Given the description of an element on the screen output the (x, y) to click on. 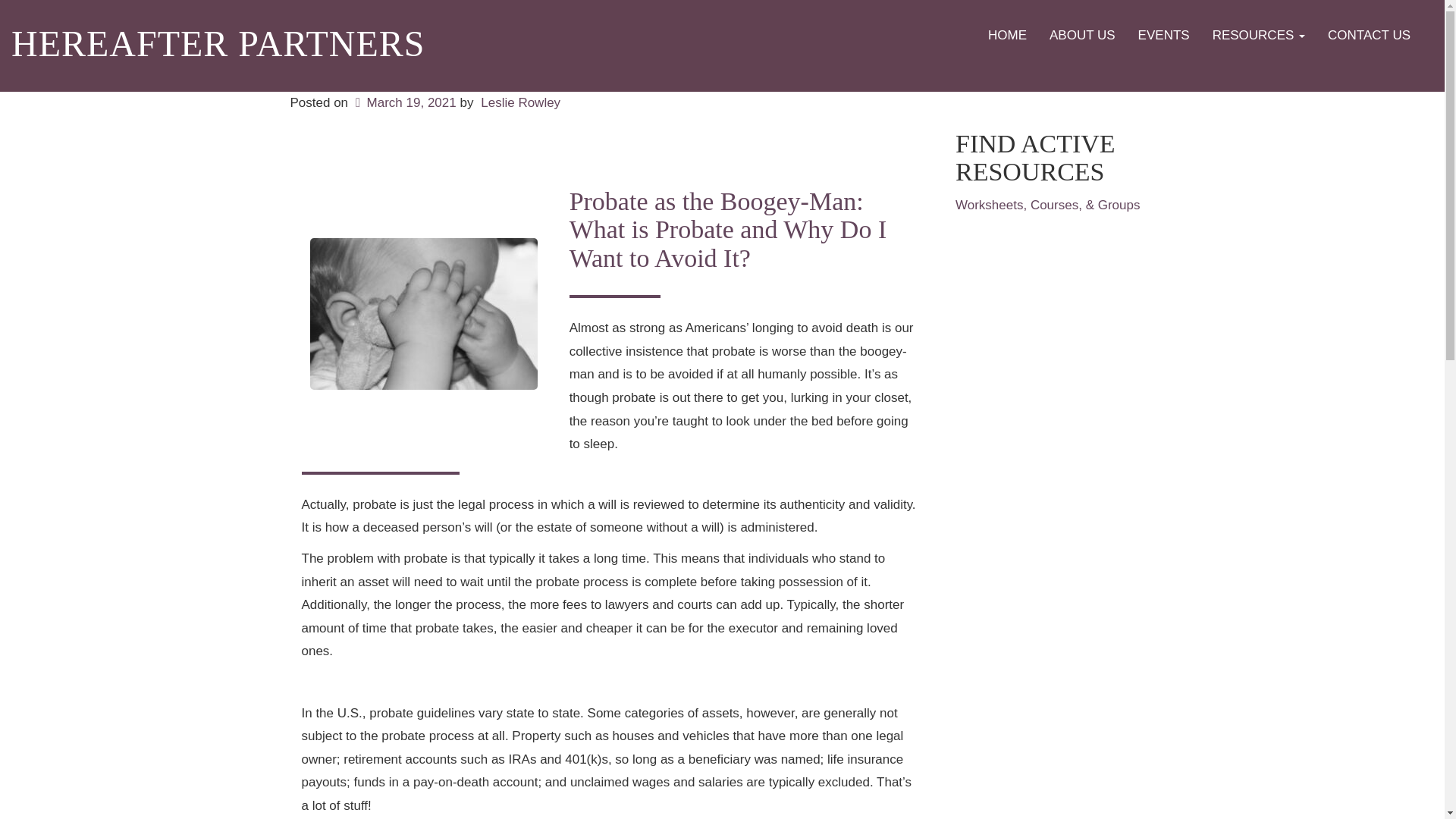
ABOUT US (1082, 35)
HEREAFTER PARTNERS (218, 43)
RESOURCES (1258, 35)
CONTACT US (1369, 35)
Leslie Rowley (520, 102)
EVENTS (1163, 35)
HOME (1007, 35)
March 19, 2021 (404, 102)
